Given the description of an element on the screen output the (x, y) to click on. 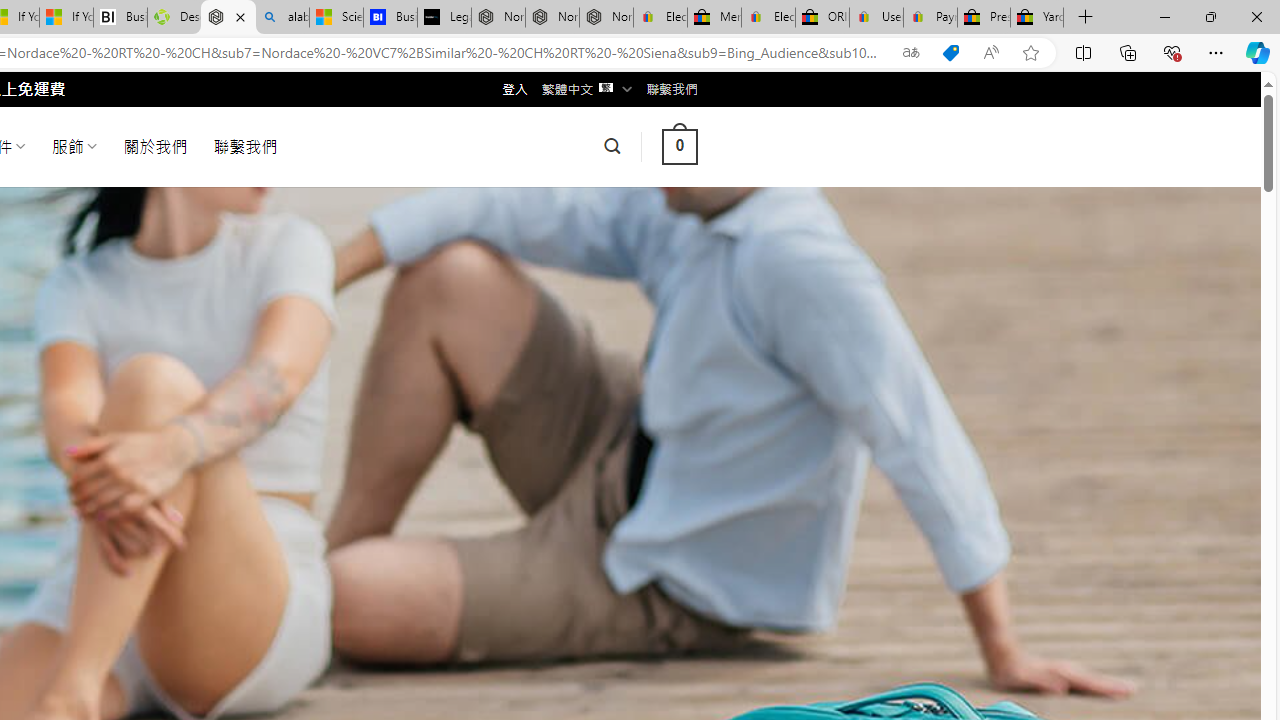
Descarga Driver Updater (174, 17)
 0  (679, 146)
  0   (679, 146)
alabama high school quarterback dies - Search (282, 17)
